Given the description of an element on the screen output the (x, y) to click on. 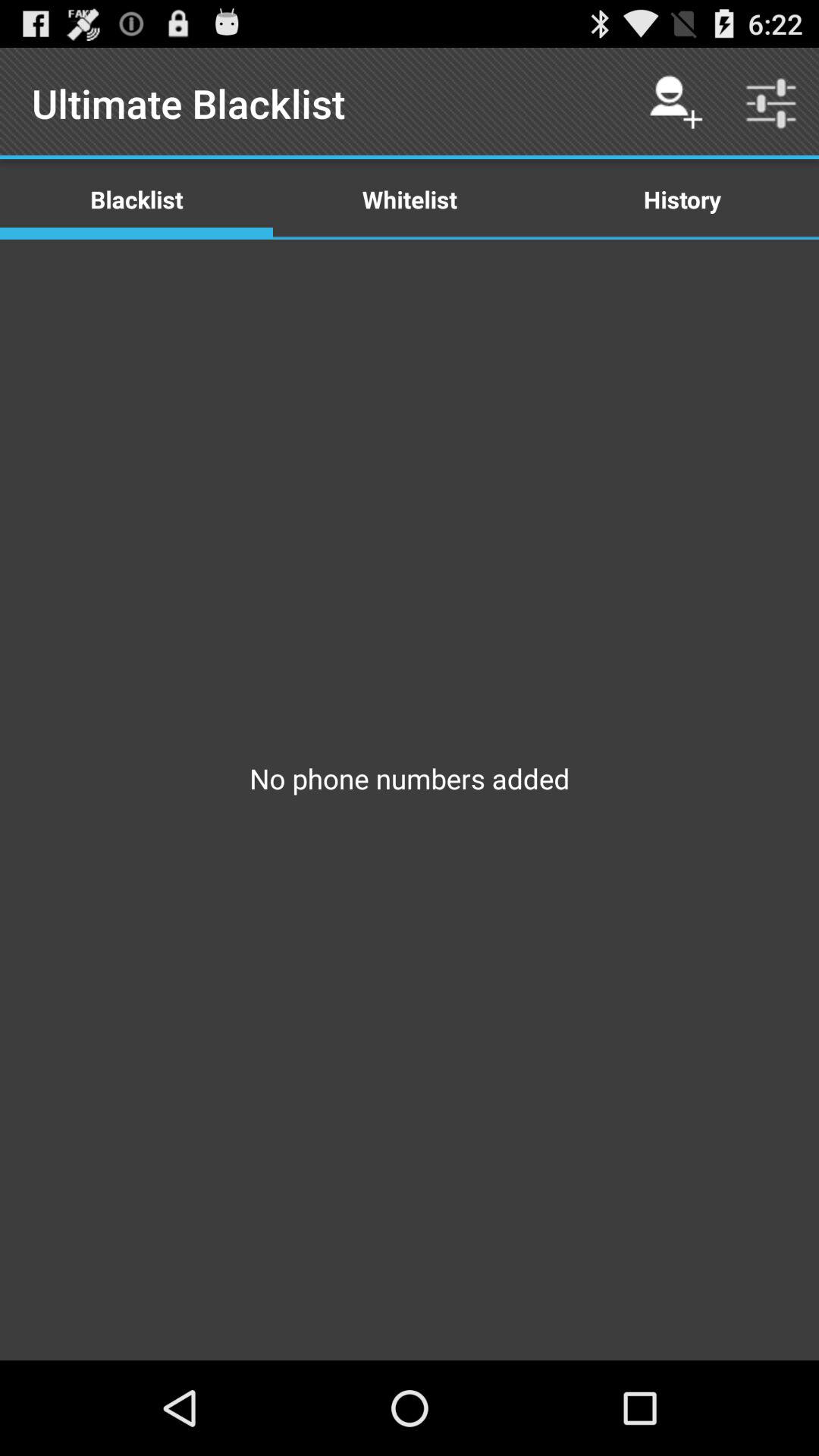
launch the item to the left of the history item (409, 199)
